Given the description of an element on the screen output the (x, y) to click on. 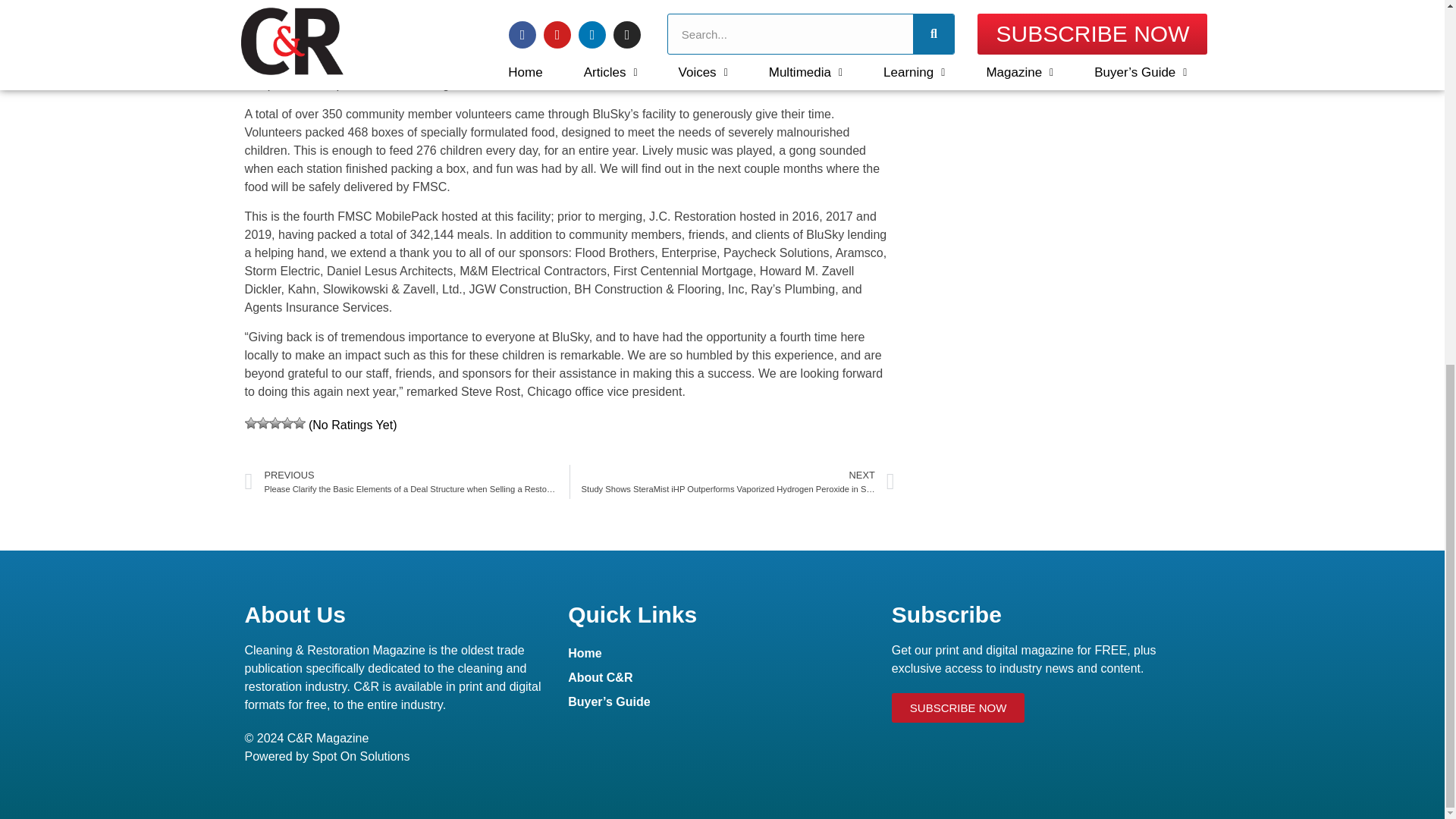
5 Stars (298, 422)
4 Stars (286, 422)
3 Stars (274, 422)
1 Star (250, 422)
2 Stars (261, 422)
